Given the description of an element on the screen output the (x, y) to click on. 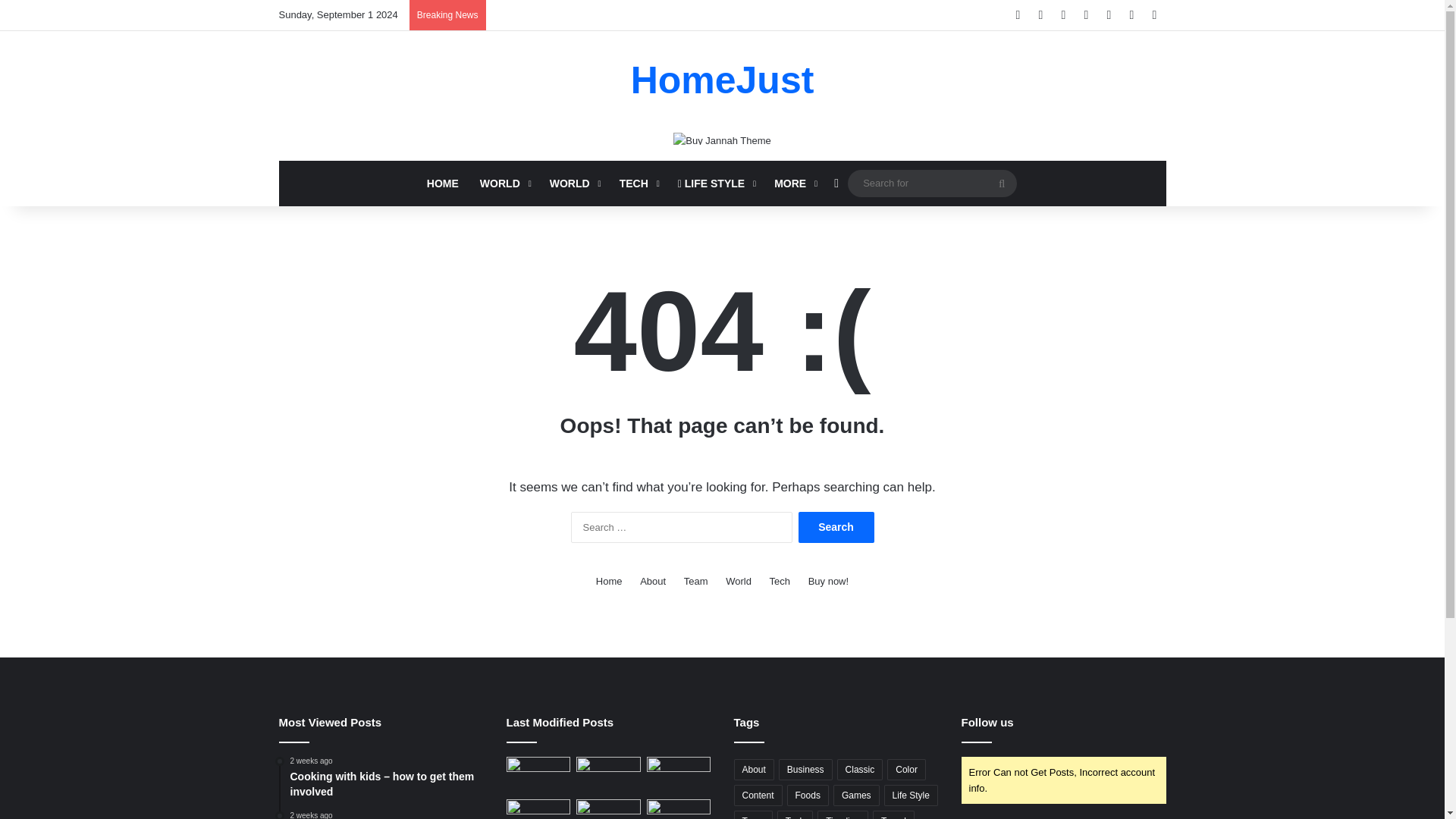
HomeJust (721, 80)
LIFE STYLE (714, 183)
HomeJust (721, 80)
TECH (637, 183)
Search for (931, 182)
WORLD (503, 183)
Buy now! (828, 580)
Search (835, 526)
Buy Jannah Theme (721, 137)
HOME (442, 183)
